Given the description of an element on the screen output the (x, y) to click on. 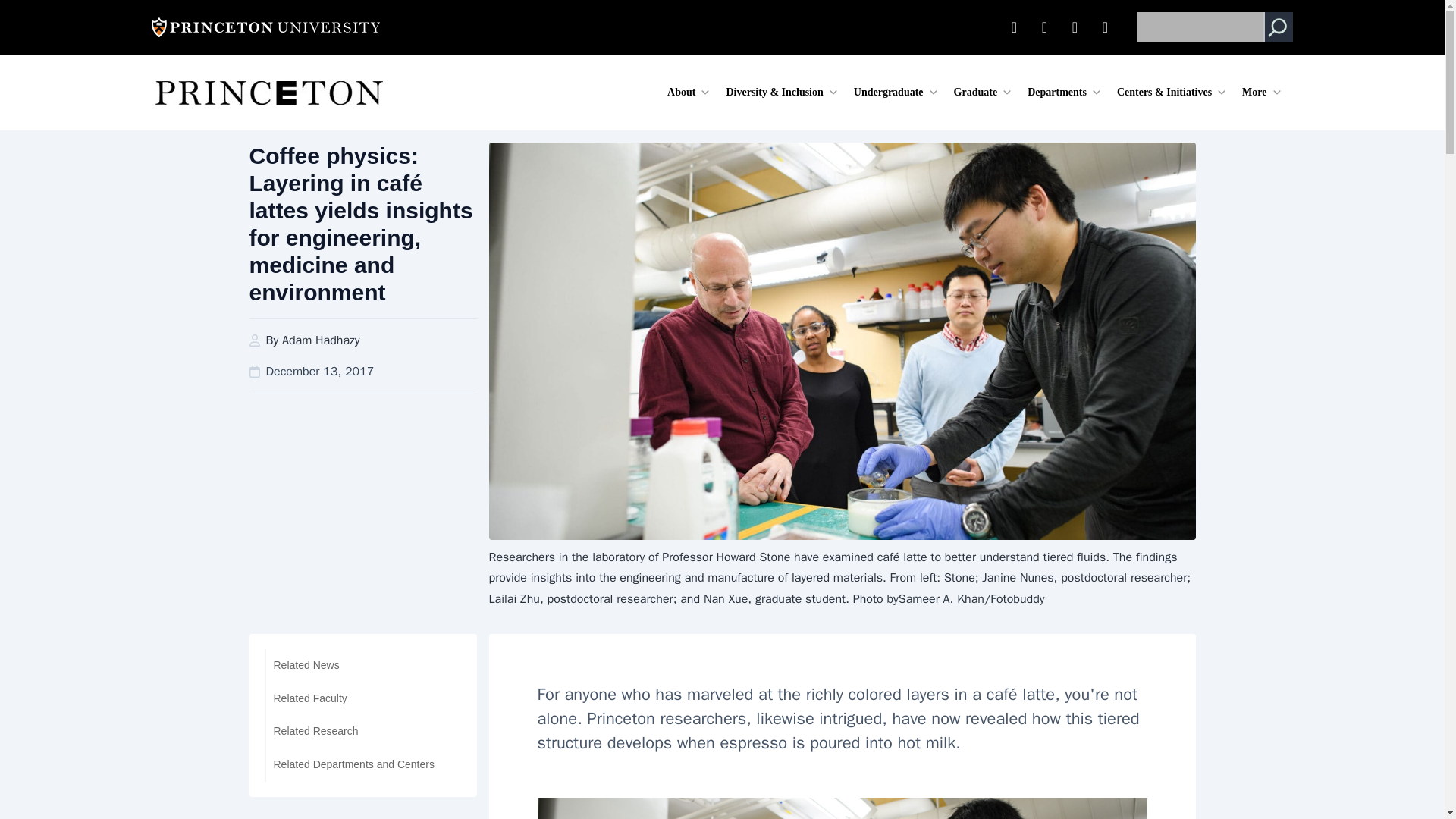
LinkedIn (1013, 27)
Princeton University (264, 26)
Facebook (1074, 27)
Undergraduate (895, 92)
Twitter (1044, 27)
Instagram (1105, 27)
Graduate (983, 92)
